Given the description of an element on the screen output the (x, y) to click on. 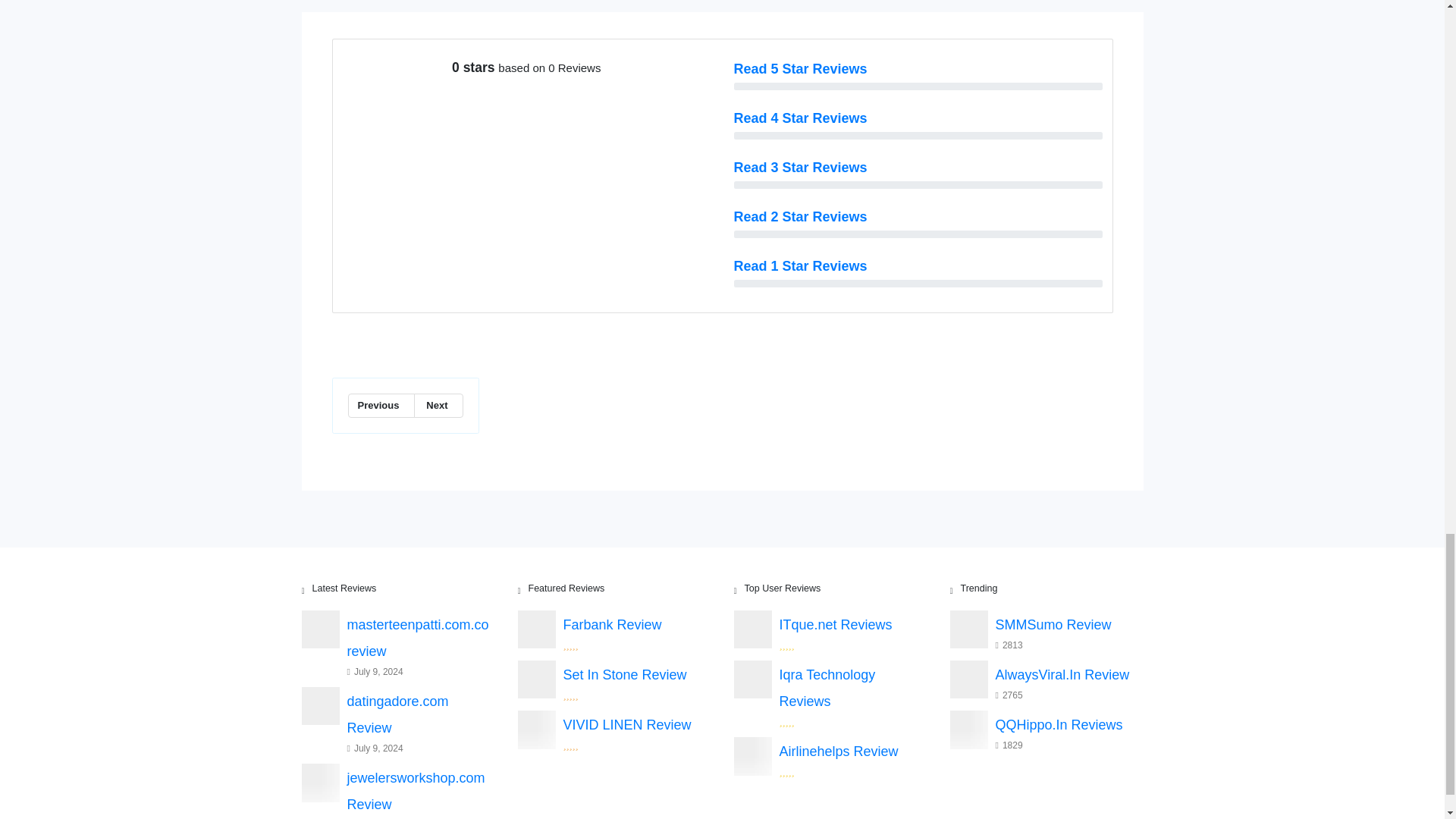
Read 5 Star Reviews (800, 68)
Read 4 Star Reviews (800, 118)
